Given the description of an element on the screen output the (x, y) to click on. 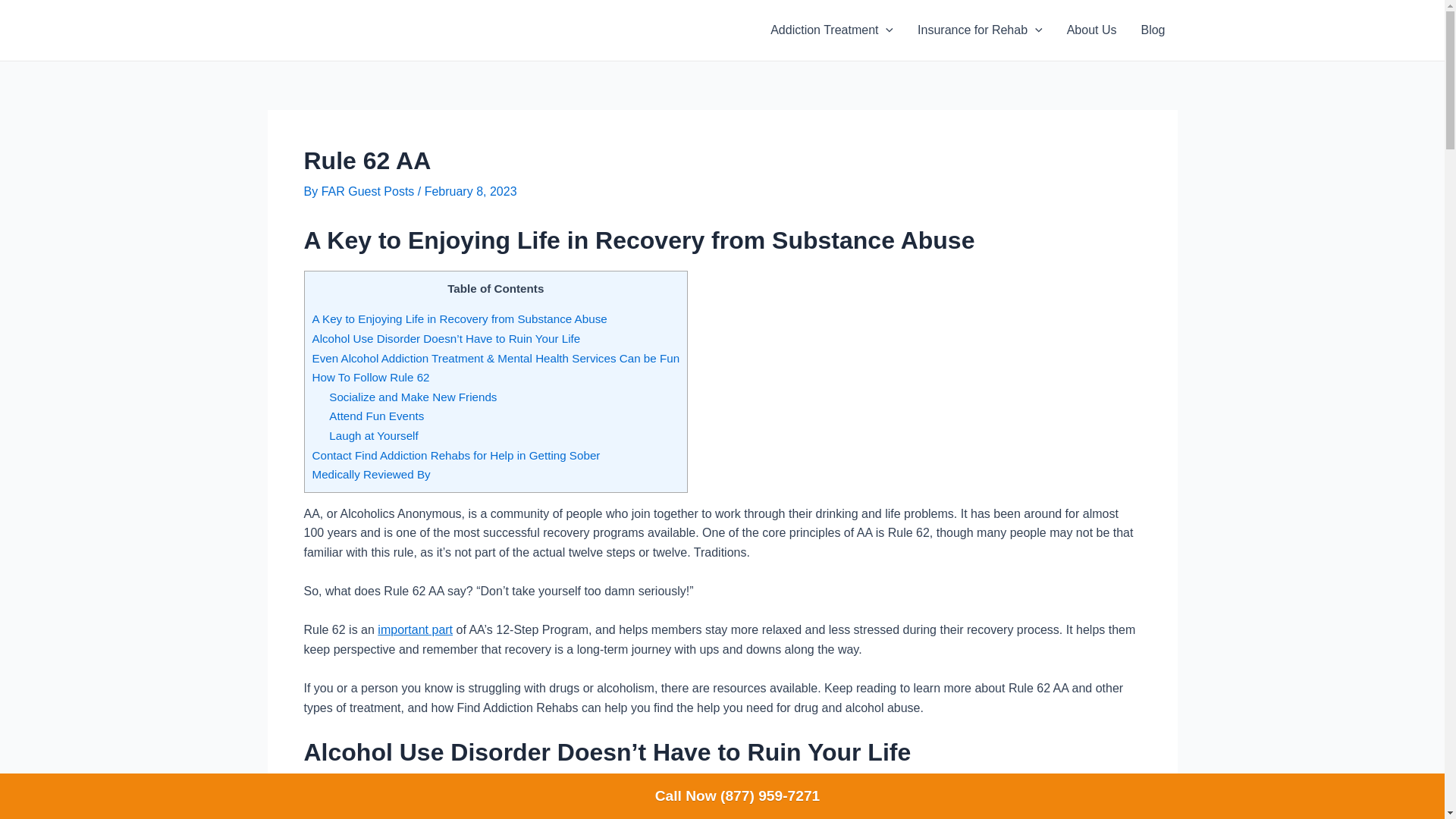
View all posts by FAR Guest Posts (369, 191)
Insurance for Rehab (979, 30)
Addiction Treatment (831, 30)
